Given the description of an element on the screen output the (x, y) to click on. 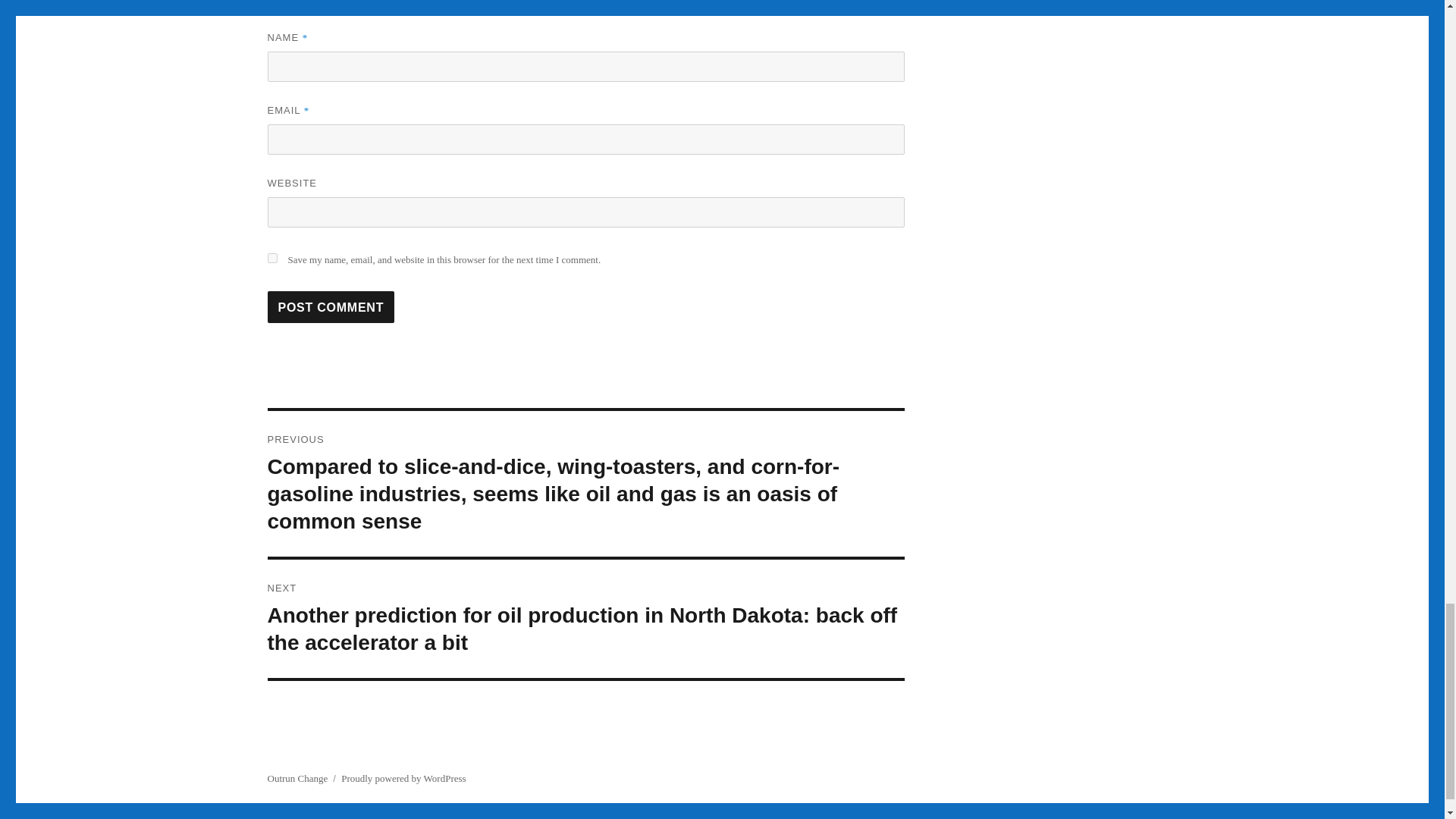
Post Comment (330, 306)
Post Comment (330, 306)
yes (271, 257)
